Given the description of an element on the screen output the (x, y) to click on. 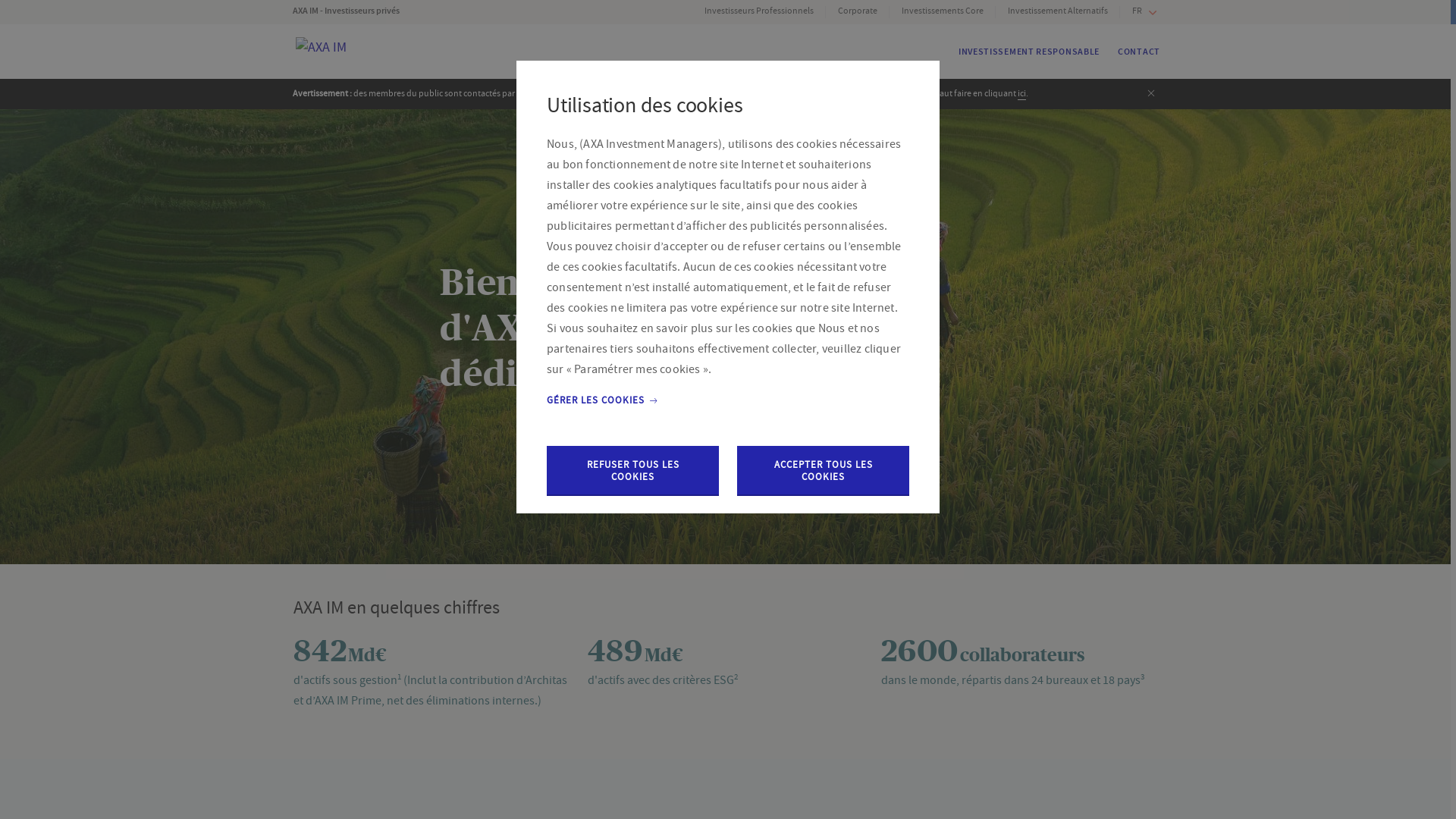
Investissements Core Element type: text (942, 12)
FR Element type: text (1143, 12)
Home Element type: hover (348, 89)
Investissement Alternatifs Element type: text (1057, 12)
CONTACT Element type: text (1138, 51)
INVESTISSEMENT RESPONSABLE Element type: text (1028, 51)
2 Element type: text (735, 676)
ici Element type: text (1021, 93)
Investisseurs Professionnels Element type: text (758, 12)
1 Element type: text (399, 676)
REFUSER TOUS LES COOKIES Element type: text (632, 470)
ACCEPTER TOUS LES COOKIES Element type: text (823, 470)
Corporate Element type: text (857, 12)
3 Element type: text (1142, 676)
